Given the description of an element on the screen output the (x, y) to click on. 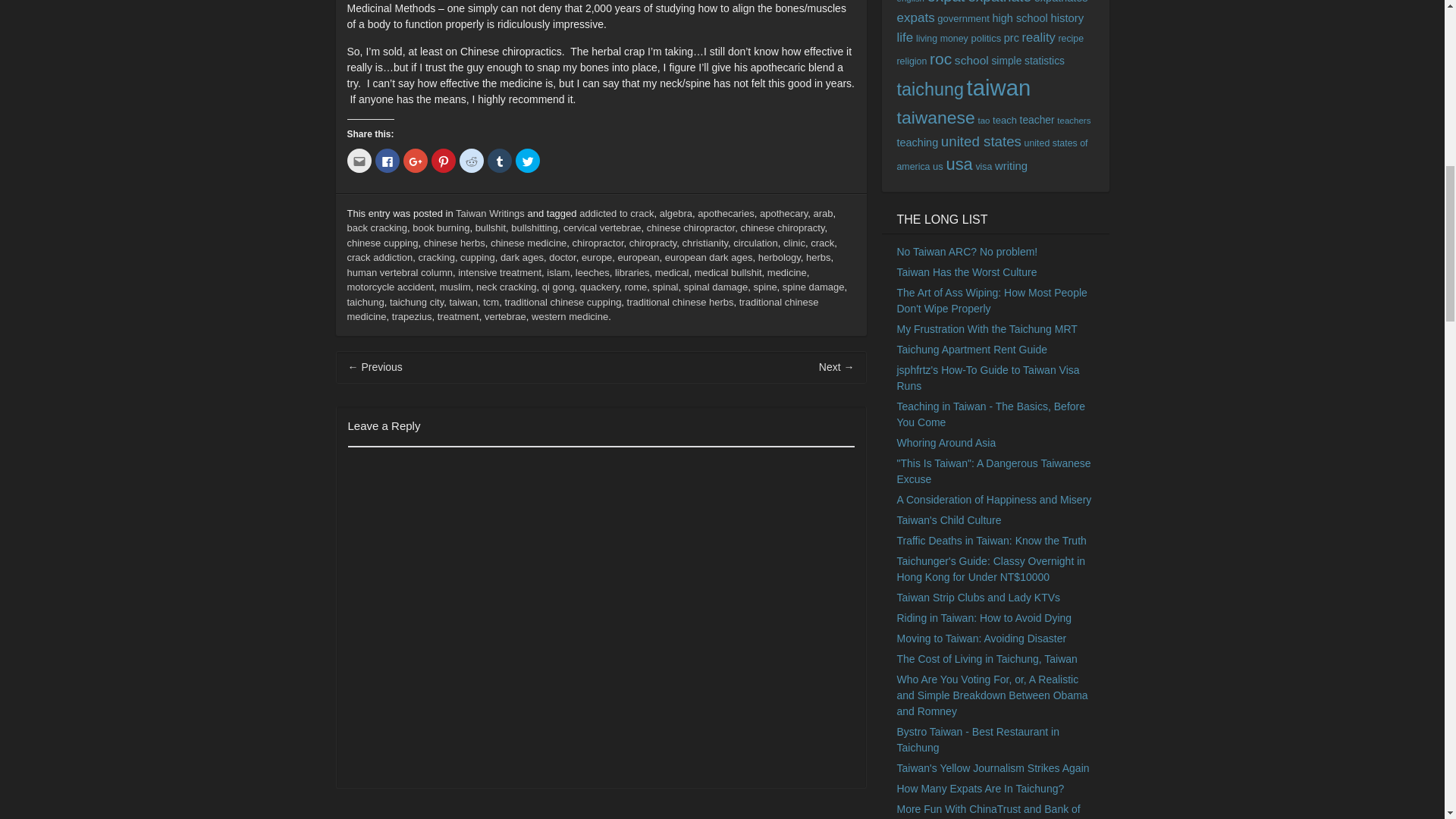
clinic (794, 242)
apothecary (784, 213)
christianity (705, 242)
chiropractor (598, 242)
chiropracty (652, 242)
Click to email this to a friend (359, 160)
chinese chiropracty (781, 227)
Click to share on Pinterest (442, 160)
chinese chiropractor (690, 227)
chinese cupping (383, 242)
